Given the description of an element on the screen output the (x, y) to click on. 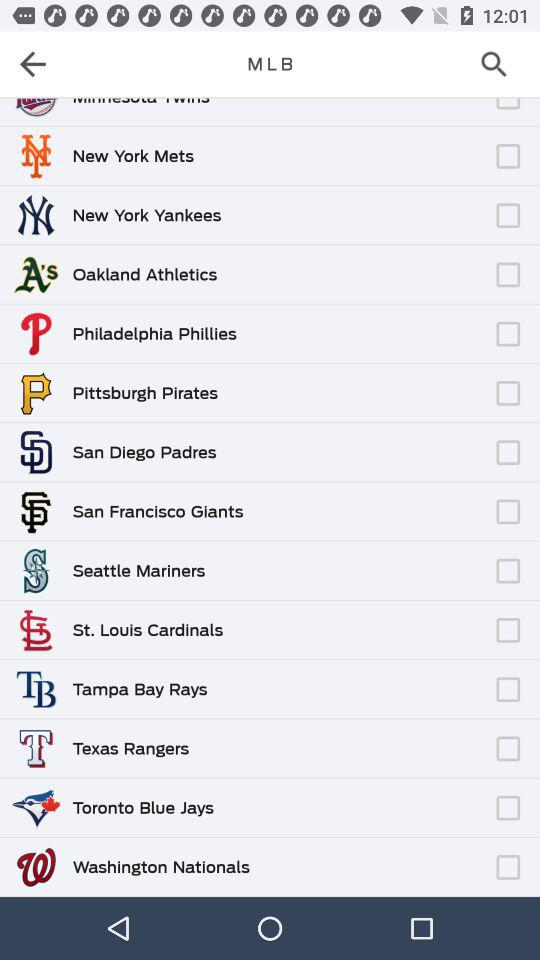
select item to the right of st. louis cardinals item (356, 620)
